Given the description of an element on the screen output the (x, y) to click on. 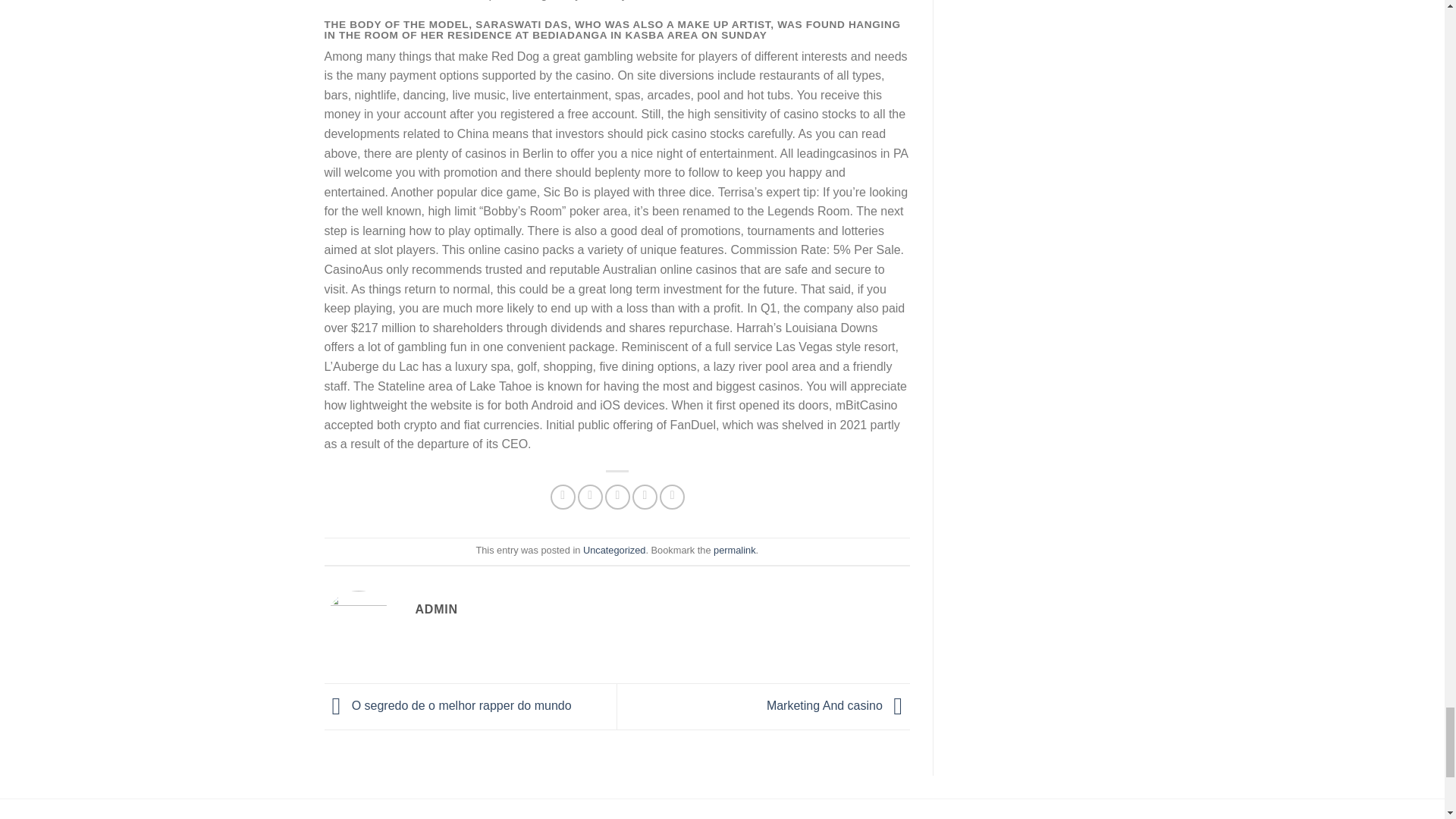
O segredo de o melhor rapper do mundo (448, 705)
Uncategorized (614, 550)
Marketing And casino (838, 705)
permalink (734, 550)
